Given the description of an element on the screen output the (x, y) to click on. 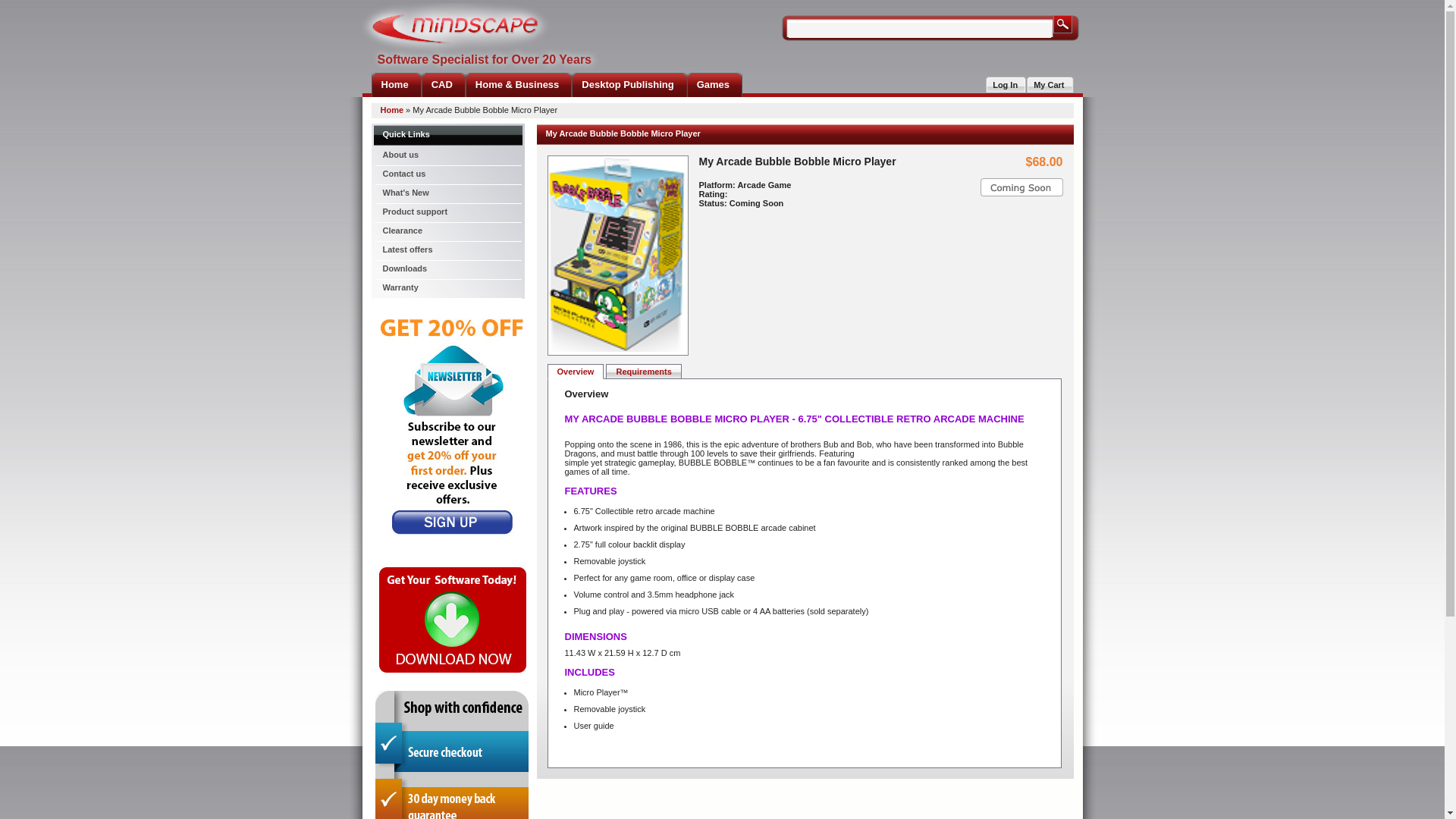
Contact us Element type: text (447, 175)
My Cart Element type: text (1049, 84)
About us Element type: text (447, 156)
What's New Element type: text (447, 194)
Clearance Element type: text (447, 231)
Games Element type: text (714, 84)
Downloads Element type: text (447, 269)
Desktop Publishing Element type: text (628, 84)
Warranty Element type: text (447, 288)
Latest offers Element type: text (447, 250)
Requirements Element type: text (642, 371)
My Arcade Bubble Bobble Micro Player Element type: hover (615, 254)
CAD Element type: text (443, 84)
Log In Element type: text (1005, 84)
Home & Business Element type: text (518, 84)
Home Element type: text (392, 109)
Product support Element type: text (447, 212)
Mindscape Software Australia Element type: hover (455, 27)
Home Element type: text (396, 84)
Coming Soon Element type: hover (1020, 187)
Search Element type: hover (1062, 24)
Overview Element type: text (575, 371)
